Given the description of an element on the screen output the (x, y) to click on. 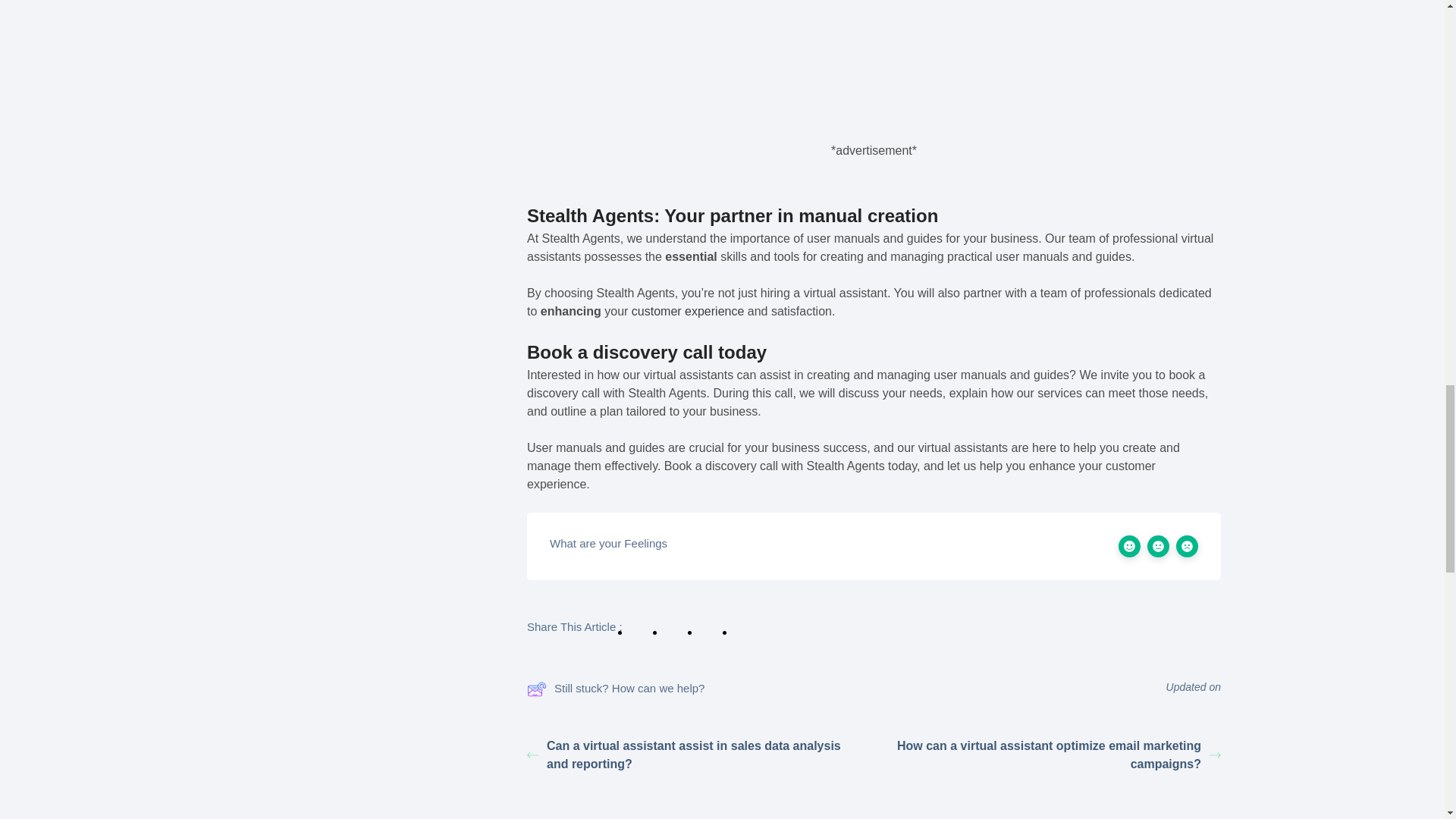
YouTube video player (873, 24)
